Given the description of an element on the screen output the (x, y) to click on. 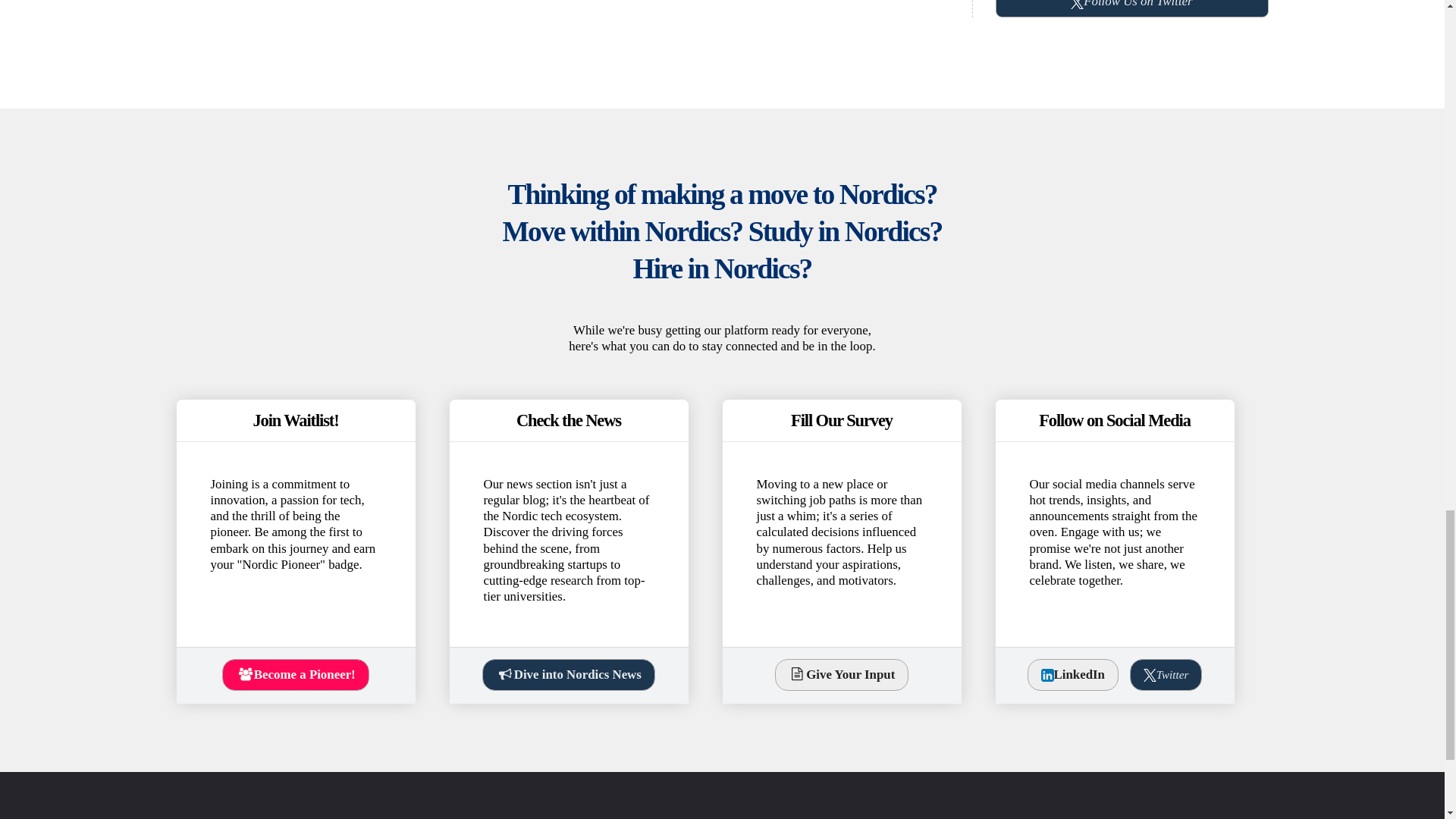
Become a Pioneer! (295, 674)
LinkedIn (1072, 674)
Dive into Nordics News (567, 674)
Give Your Input (841, 674)
